Given the description of an element on the screen output the (x, y) to click on. 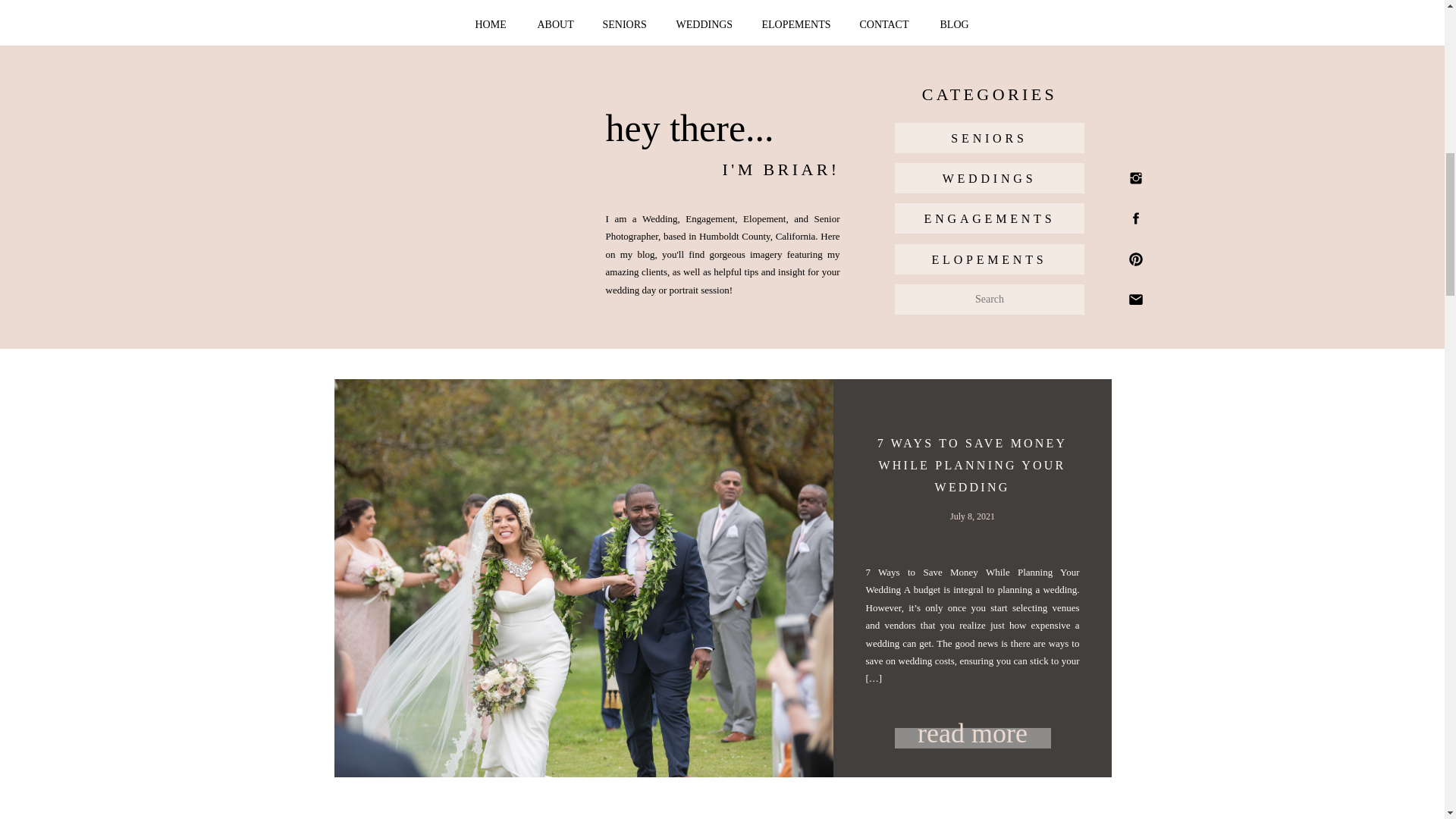
WEDDINGS (706, 25)
7 Ways to Save Money While Planning Your Wedding (973, 731)
HOME (491, 25)
SENIORS (989, 137)
BLOG (956, 25)
ELOPEMENTS (989, 259)
7 WAYS TO SAVE MONEY WHILE PLANNING YOUR WEDDING (972, 464)
CONTACT (887, 25)
WEDDINGS (989, 178)
ELOPEMENTS (796, 25)
7 Ways to Save Money While Planning Your Wedding (973, 738)
read more (973, 731)
ABOUT (556, 25)
SENIORS (626, 25)
